Given the description of an element on the screen output the (x, y) to click on. 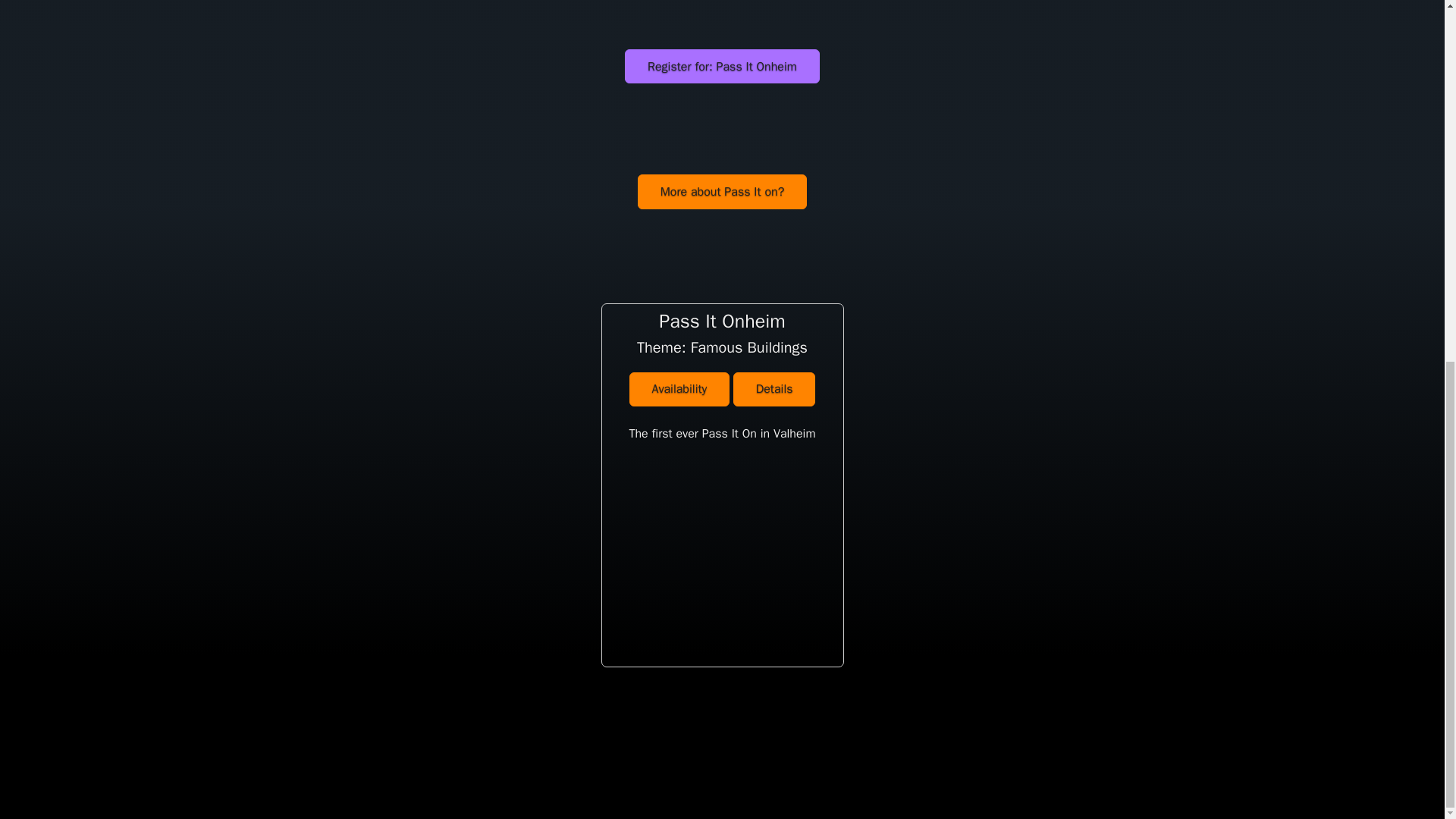
Availability (678, 389)
Details (774, 389)
Register for: Pass It Onheim (721, 66)
More about Pass It on? (721, 191)
